Given the description of an element on the screen output the (x, y) to click on. 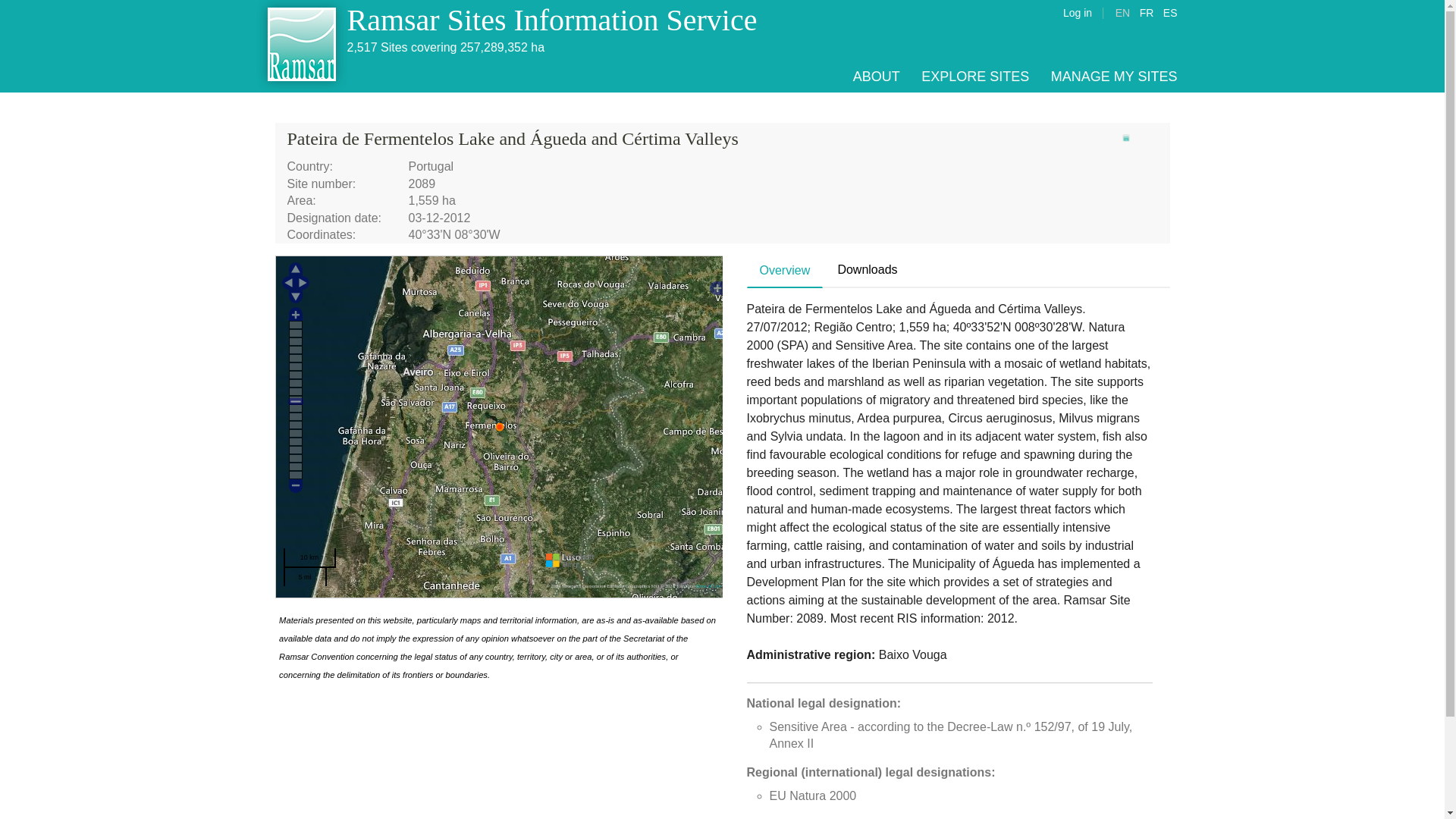
Overview (785, 271)
Ramsar Sites Information Service (552, 19)
Terms of Use (707, 585)
Ramsar logo (1125, 137)
ABOUT (876, 76)
Home (301, 46)
Downloads (866, 270)
FR (1147, 12)
Log in (1077, 12)
Home (552, 19)
MANAGE MY SITES (1114, 76)
ES (1170, 12)
EN (1122, 12)
EXPLORE SITES (975, 76)
